Given the description of an element on the screen output the (x, y) to click on. 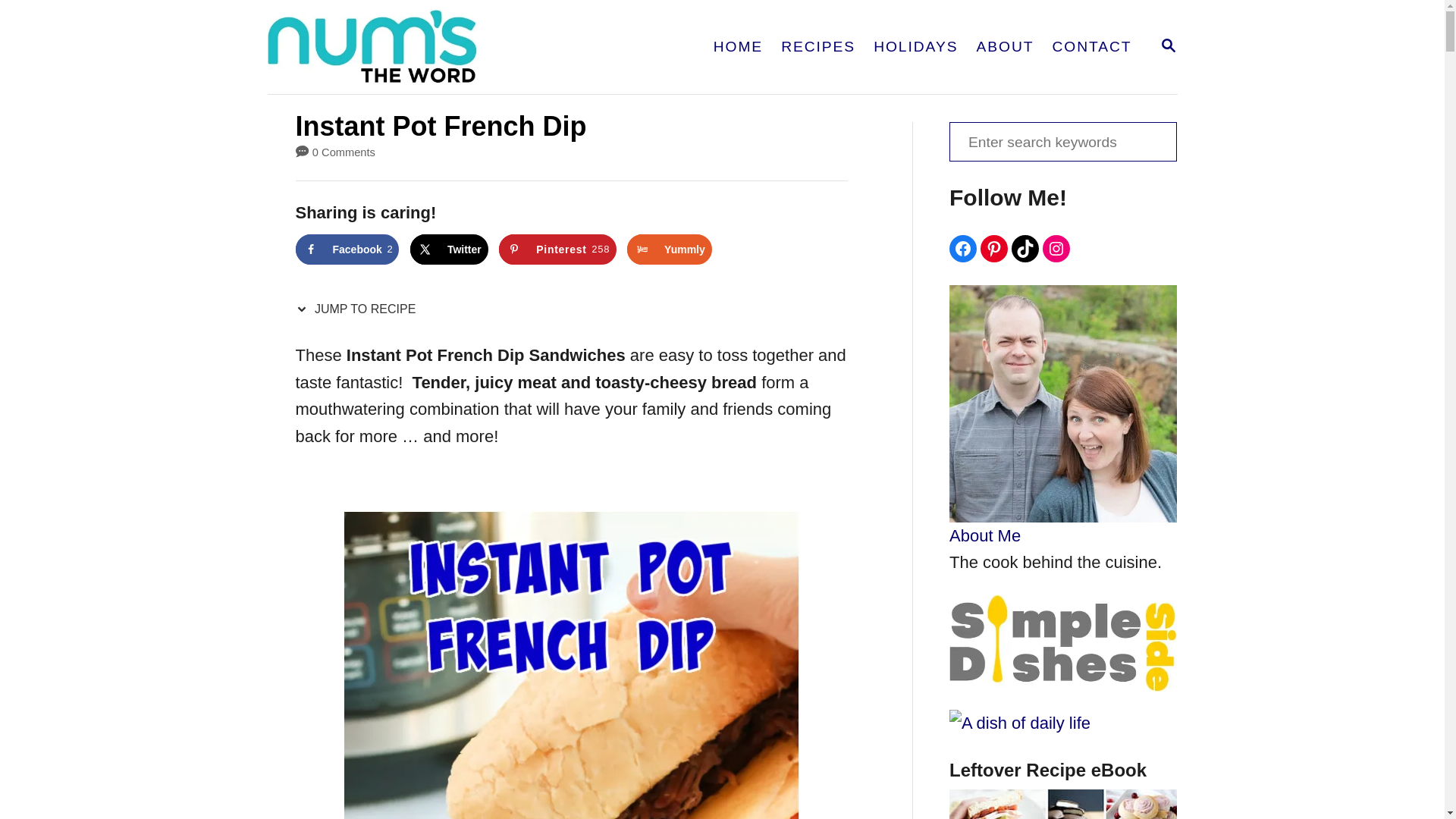
Search for: (1062, 141)
Share on Yummly (1168, 46)
Share on Facebook (669, 249)
MAGNIFYING GLASS (346, 249)
Num's the Word (1167, 45)
Share on X (432, 47)
Save to Pinterest (448, 249)
HOME (557, 249)
RECIPES (737, 46)
